Given the description of an element on the screen output the (x, y) to click on. 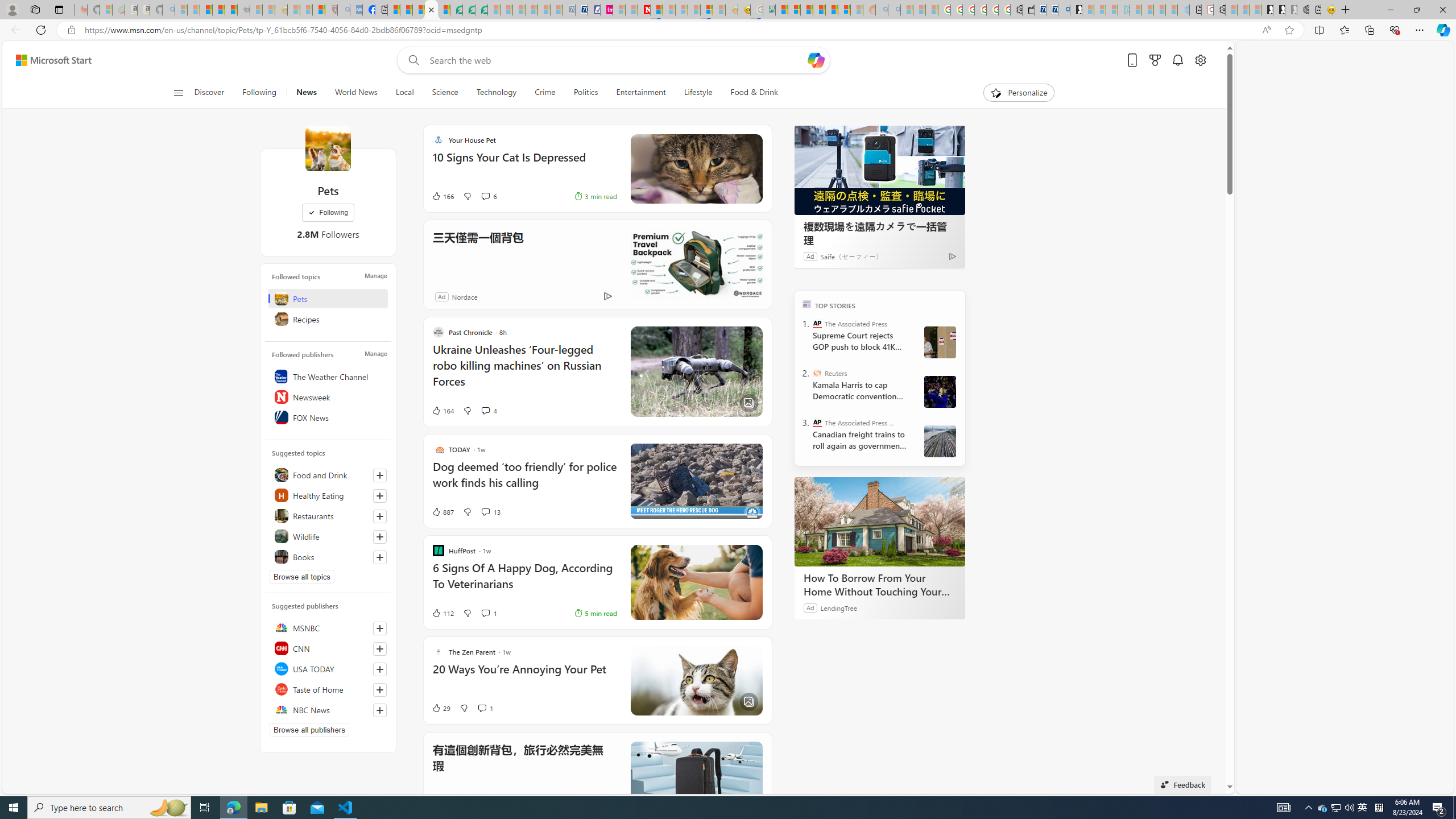
Expert Portfolios (818, 9)
NBC News (327, 709)
Healthy Eating (327, 495)
TOP (806, 302)
